Given the description of an element on the screen output the (x, y) to click on. 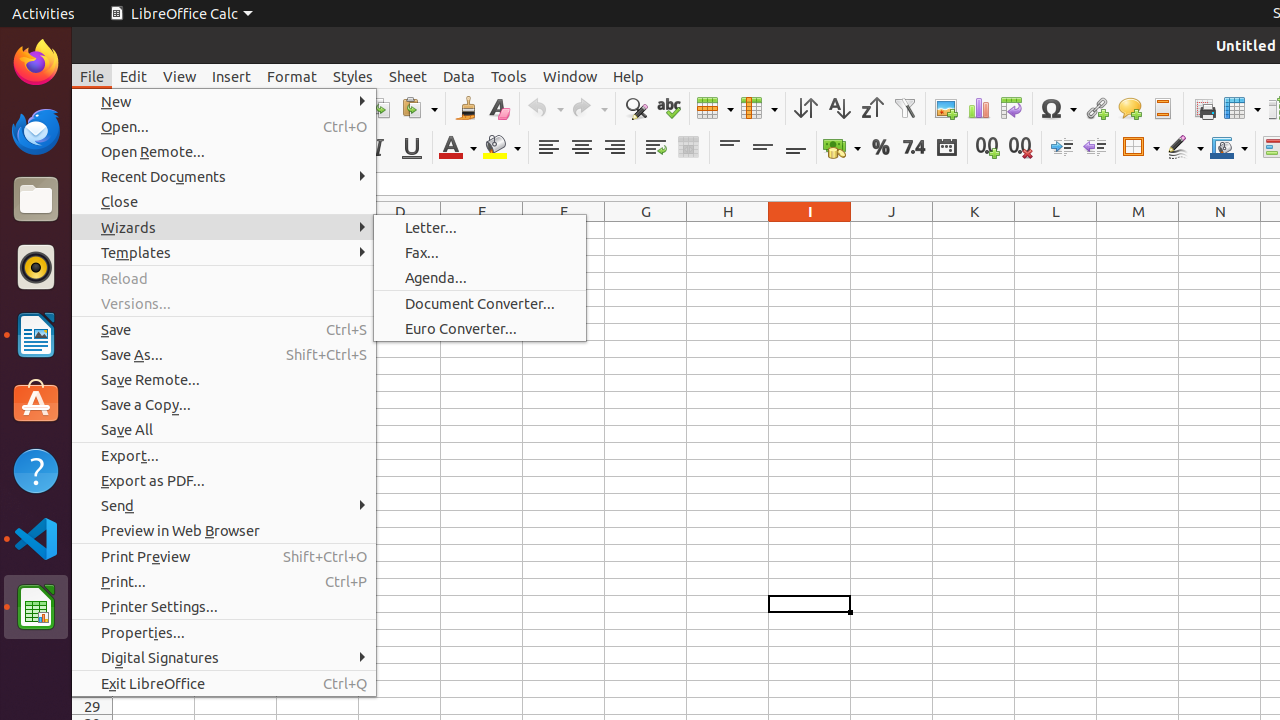
Export as PDF... Element type: menu-item (224, 480)
J1 Element type: table-cell (892, 230)
Recent Documents Element type: menu (224, 176)
Border Color Element type: push-button (1229, 147)
Close Element type: menu-item (224, 201)
